Given the description of an element on the screen output the (x, y) to click on. 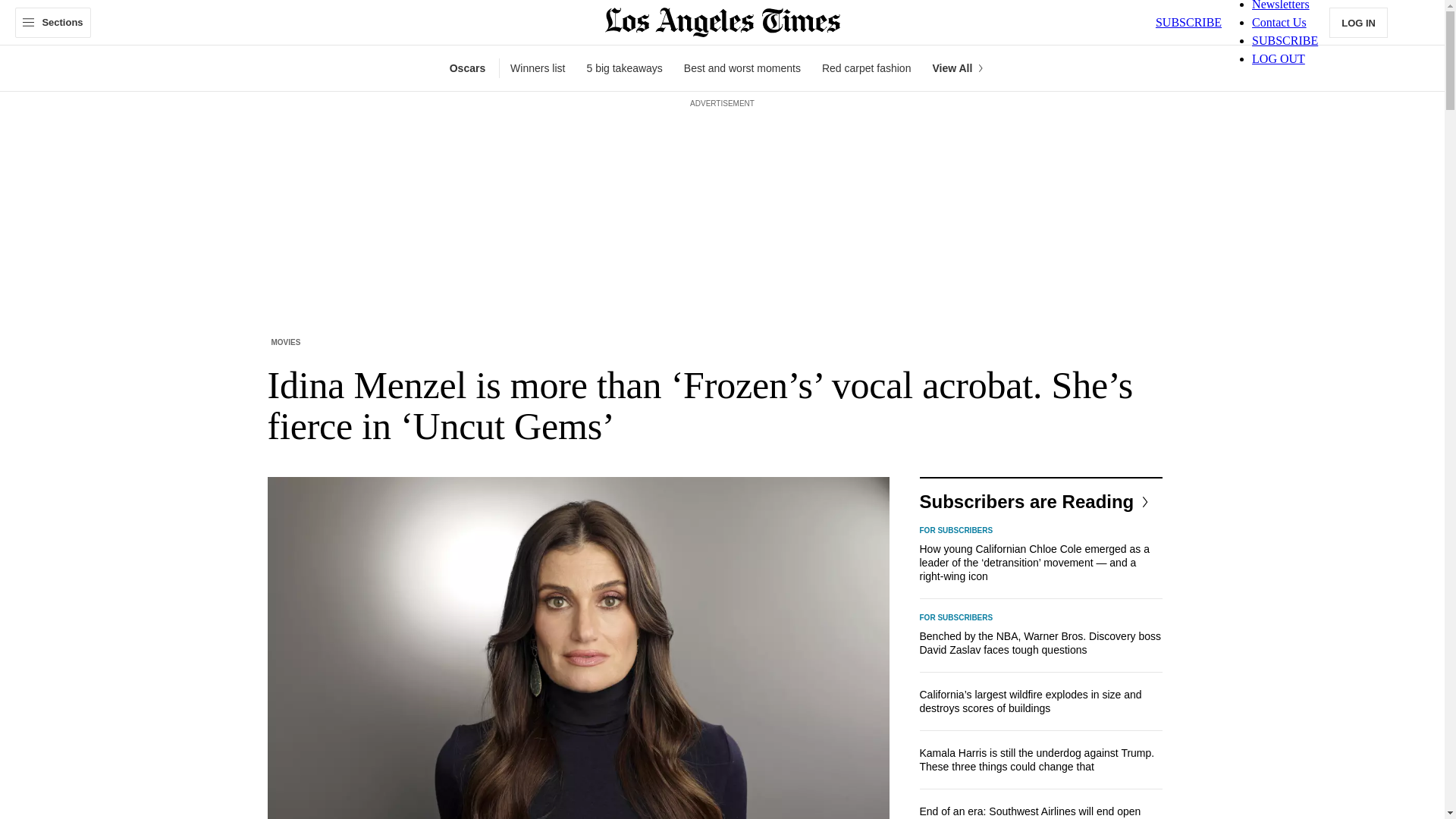
3rd party ad content (721, 146)
